Given the description of an element on the screen output the (x, y) to click on. 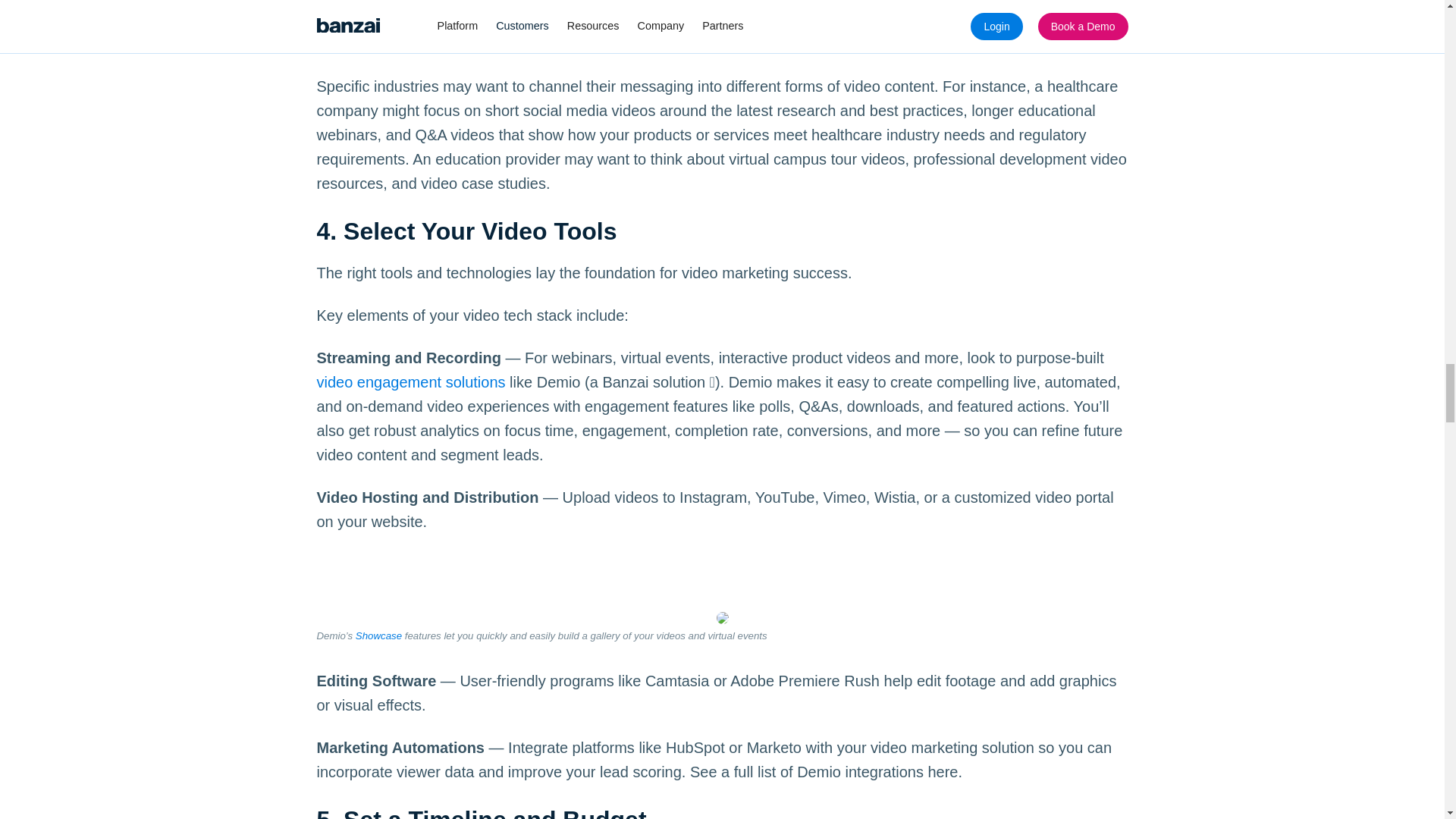
video engagement solutions (411, 381)
Showcase (378, 635)
